Given the description of an element on the screen output the (x, y) to click on. 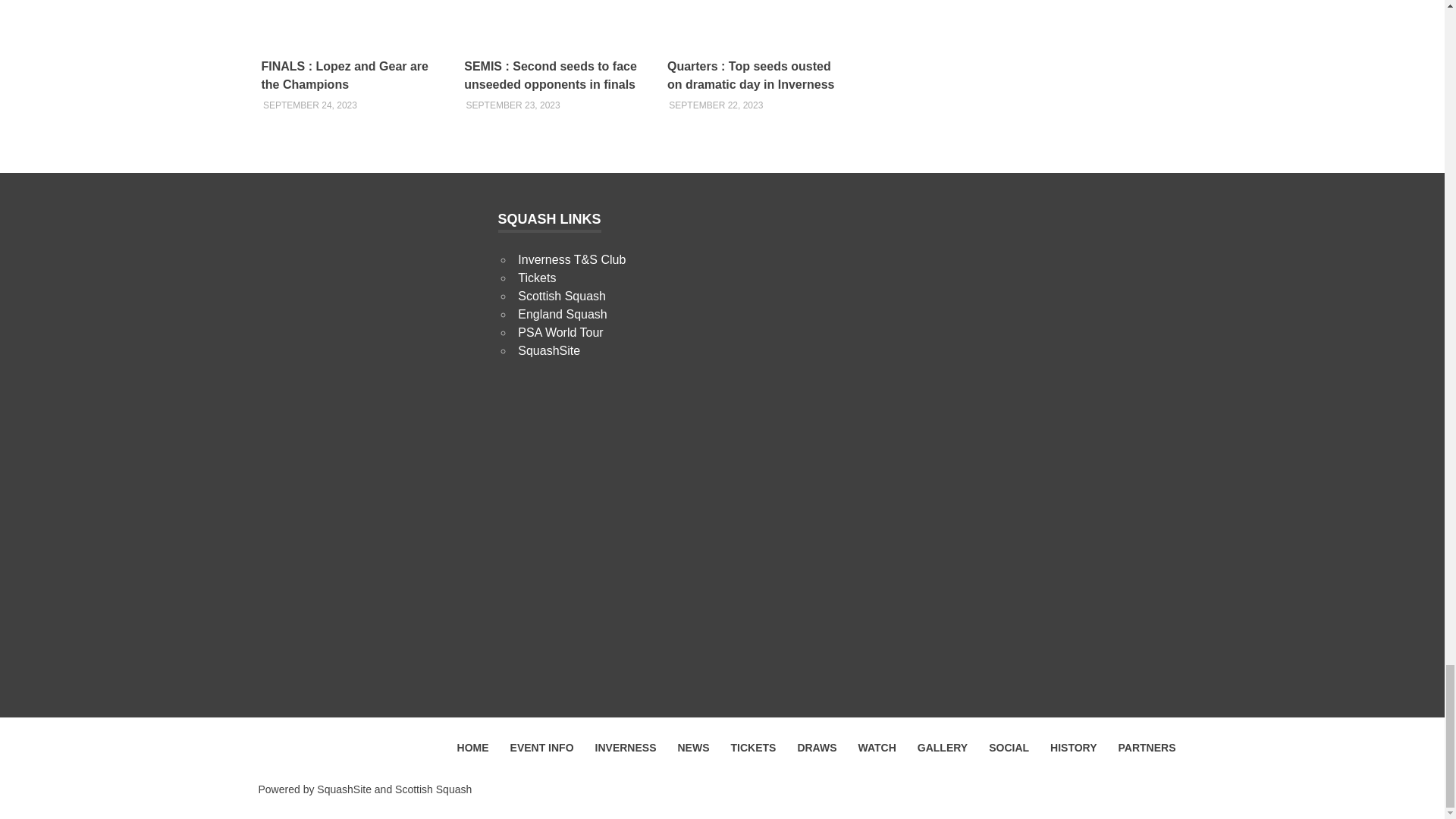
9:37 am (309, 104)
8:14 am (715, 104)
8:42 am (512, 104)
